Given the description of an element on the screen output the (x, y) to click on. 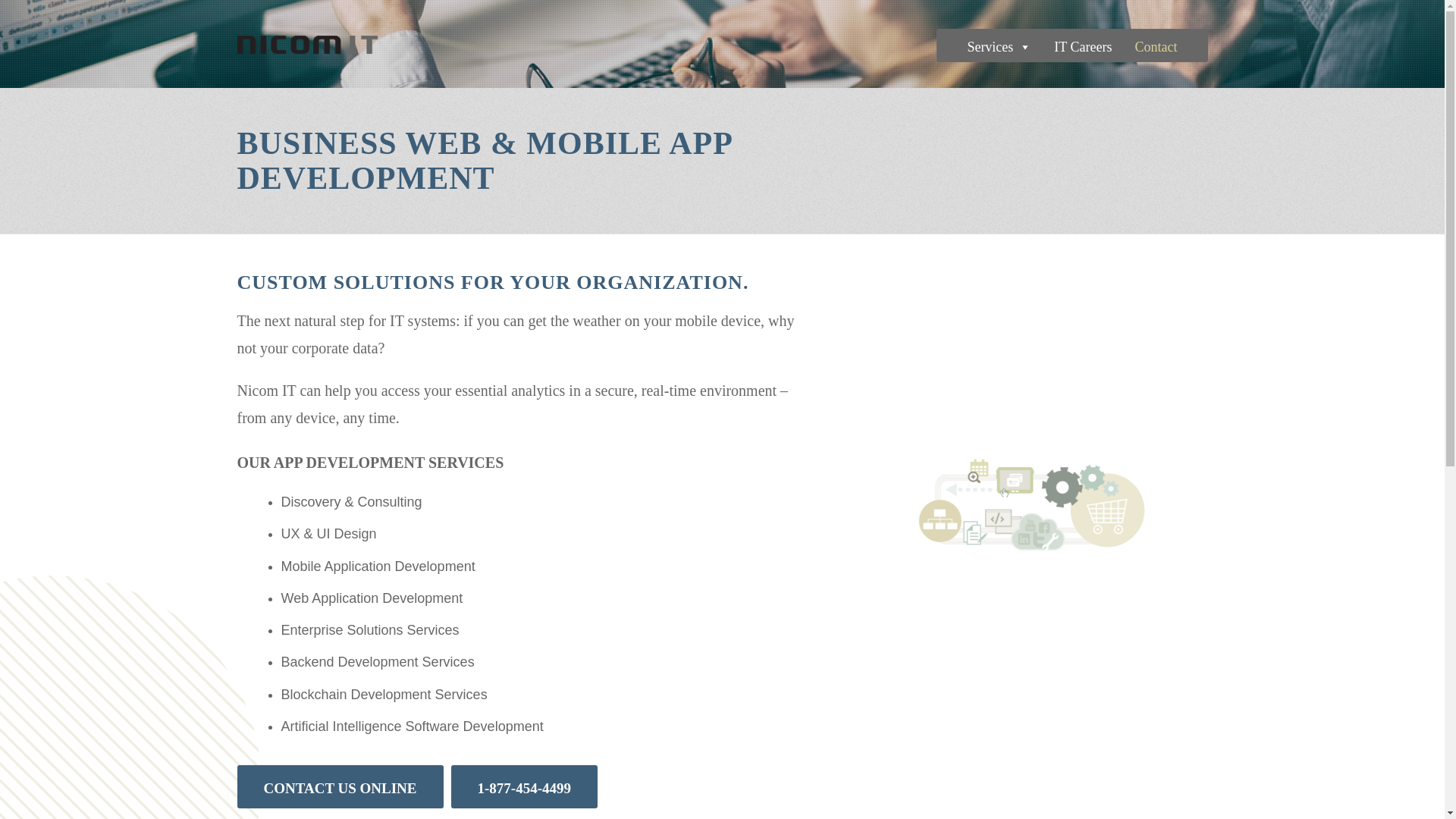
Contact (1156, 46)
Services (998, 46)
1-877-454-4499 (523, 785)
IT Careers (1082, 46)
Nicom-IT-Solutions-Logo (306, 44)
CONTACT US ONLINE (338, 785)
